Given the description of an element on the screen output the (x, y) to click on. 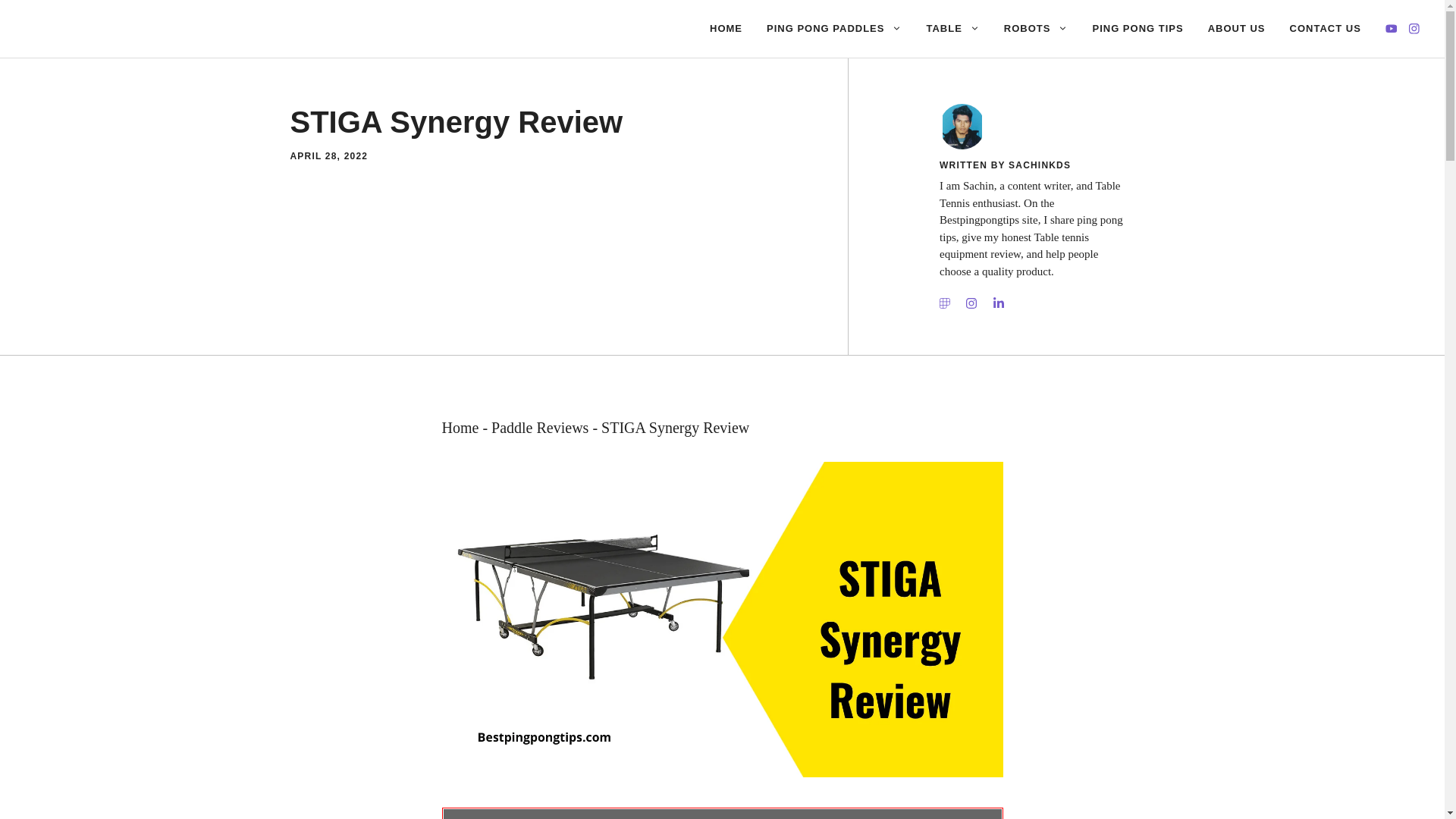
ROBOTS (1035, 28)
Paddle Reviews (540, 426)
PING PONG TIPS (1137, 28)
HOME (725, 28)
ABOUT US (1236, 28)
CONTACT US (1325, 28)
PING PONG PADDLES (834, 28)
Home (460, 426)
TABLE (952, 28)
